Given the description of an element on the screen output the (x, y) to click on. 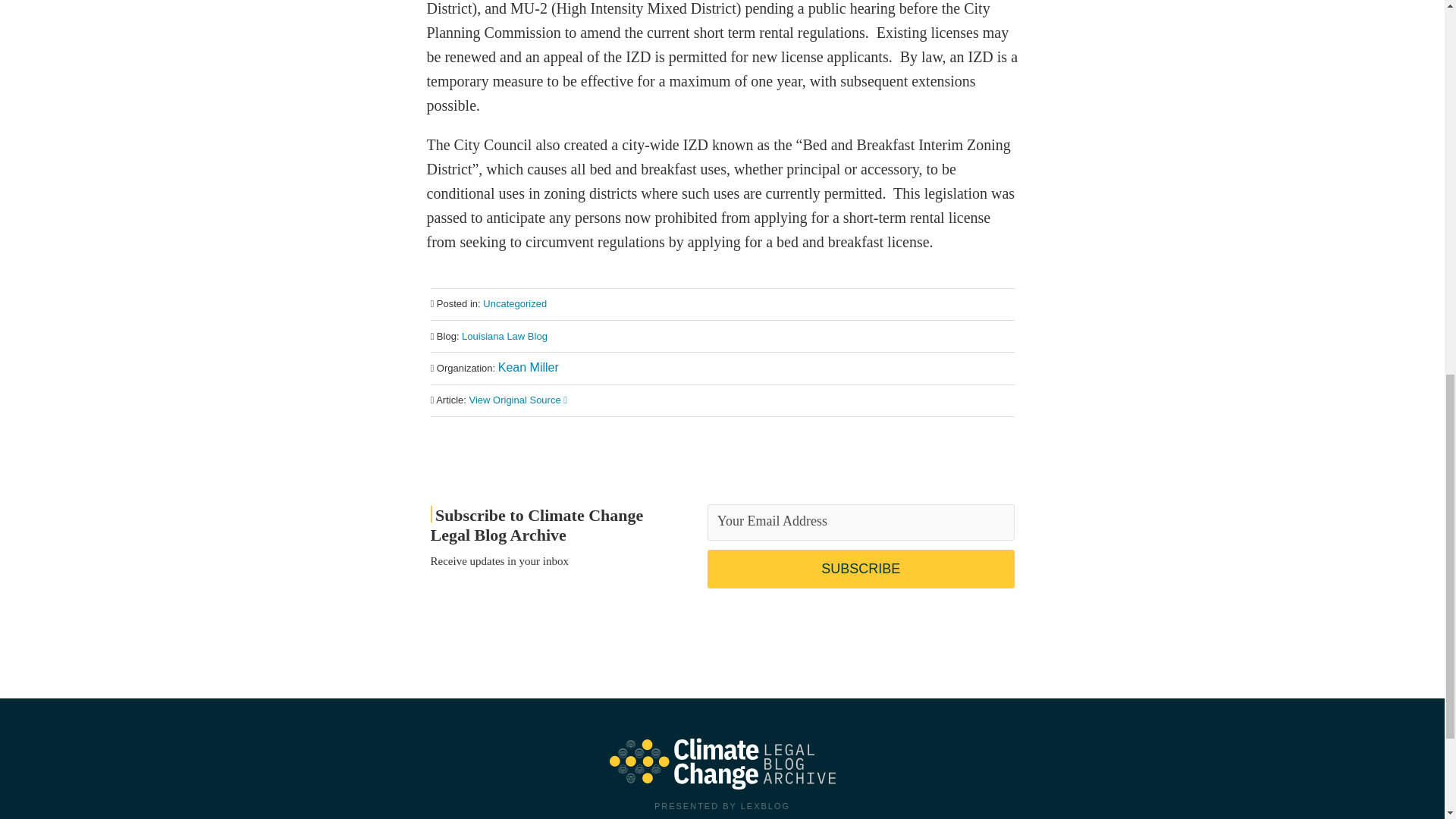
Louisiana Law Blog (504, 336)
SUBSCRIBE (860, 568)
Uncategorized (515, 303)
Kean Miller (528, 367)
SUBSCRIBE (860, 568)
View Original Source (517, 399)
